Given the description of an element on the screen output the (x, y) to click on. 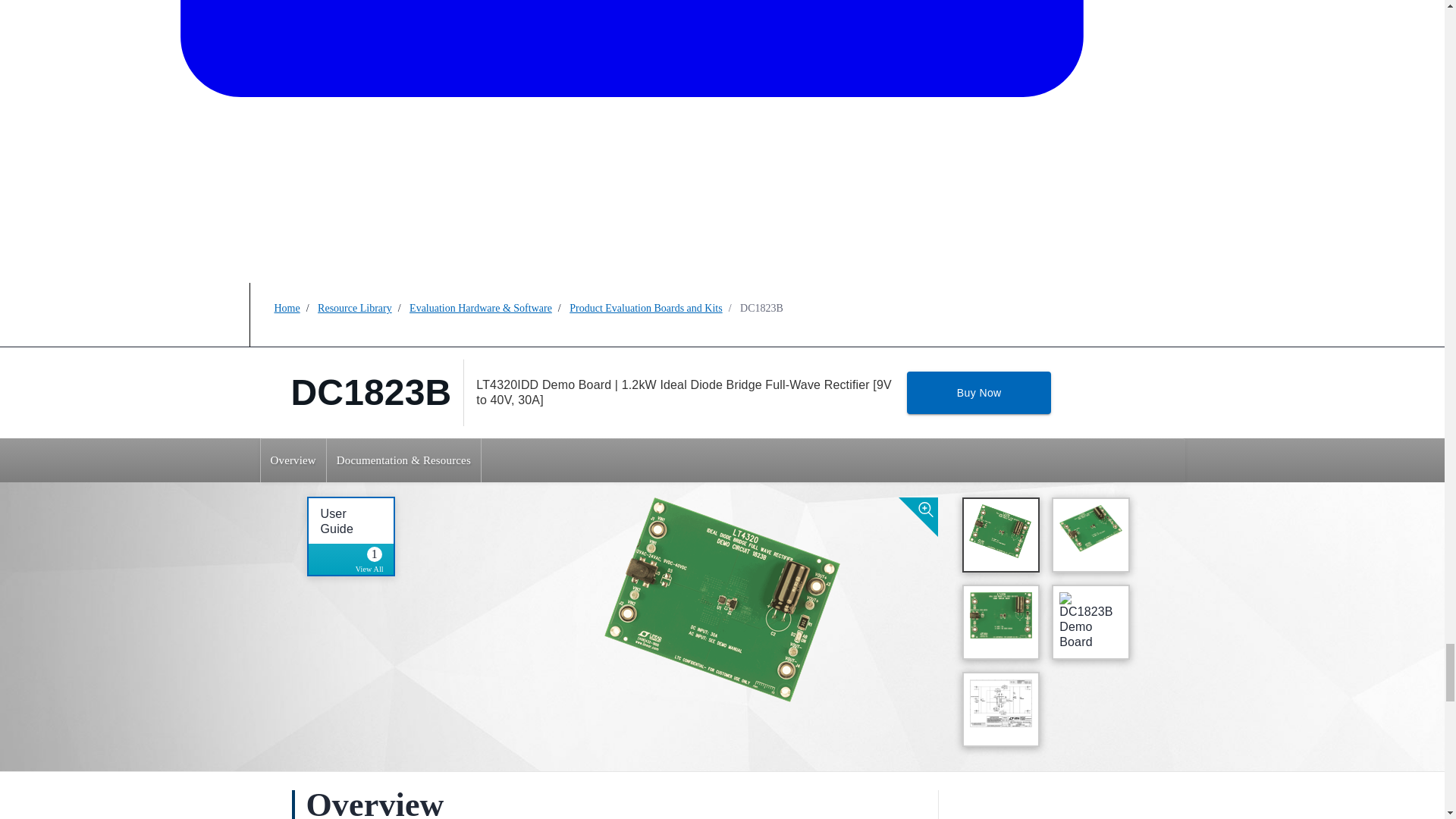
Home (374, 560)
Buy Now (287, 307)
Overview (979, 392)
User Guide (293, 460)
Product Evaluation Boards and Kits (336, 520)
Resource Library (645, 307)
